Given the description of an element on the screen output the (x, y) to click on. 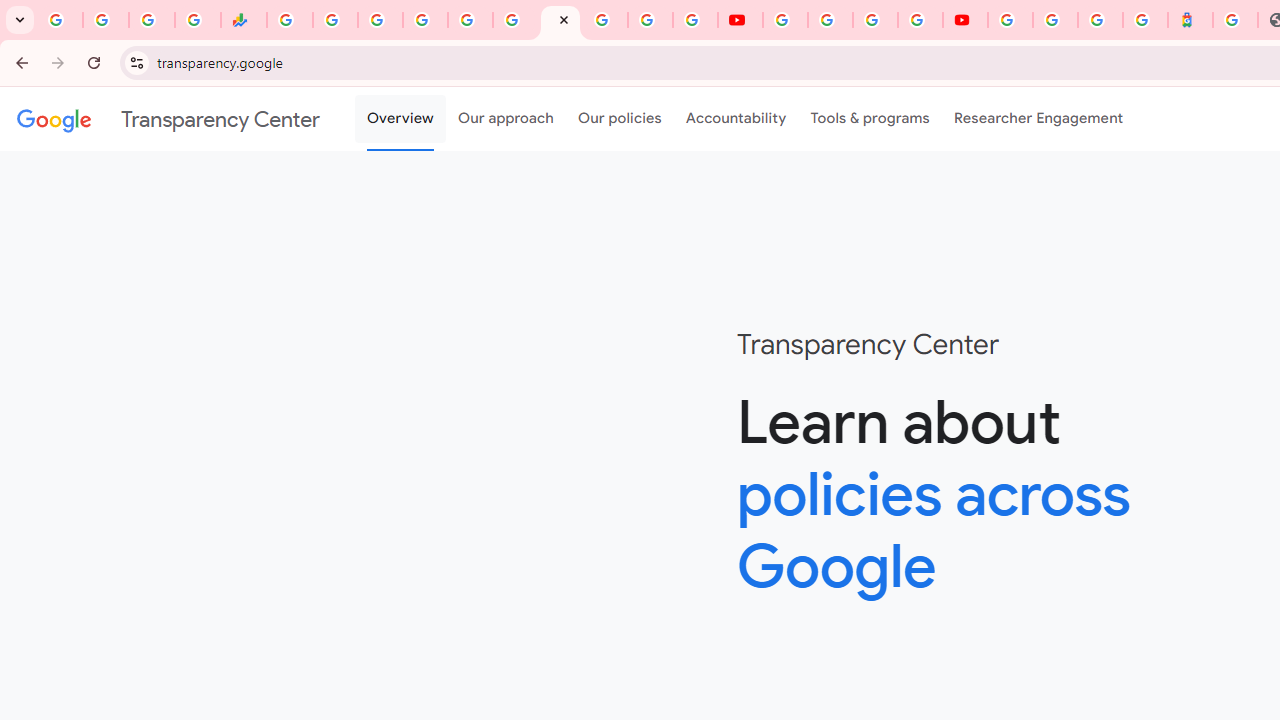
Back (19, 62)
Google Workspace Admin Community (60, 20)
Sign in - Google Accounts (1055, 20)
Atour Hotel - Google hotels (1190, 20)
Sign in - Google Accounts (425, 20)
View site information (136, 62)
